Given the description of an element on the screen output the (x, y) to click on. 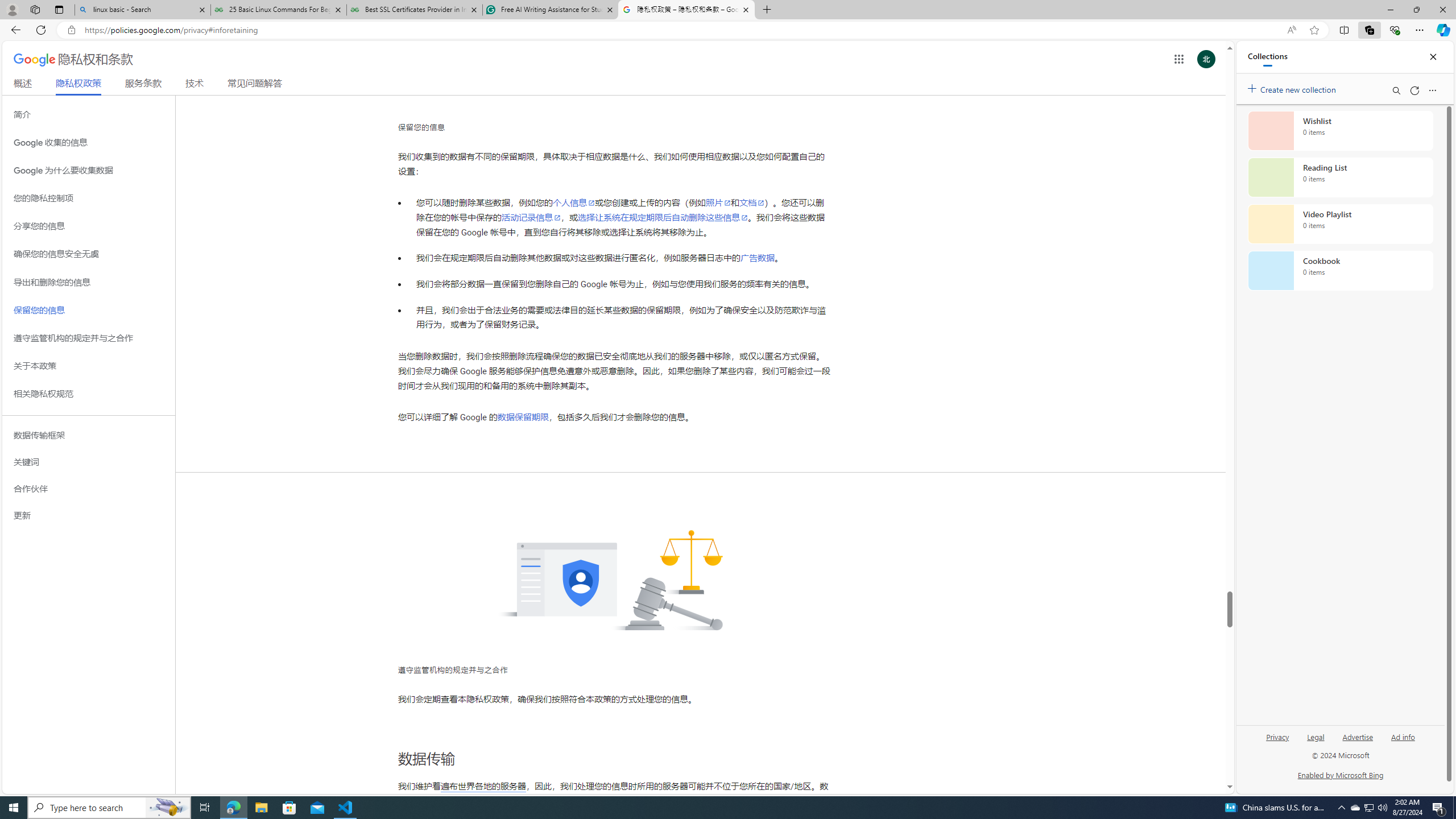
Wishlist collection, 0 items (1339, 130)
25 Basic Linux Commands For Beginners - GeeksforGeeks (277, 9)
linux basic - Search (142, 9)
Create new collection (1293, 87)
Video Playlist collection, 0 items (1339, 223)
